Given the description of an element on the screen output the (x, y) to click on. 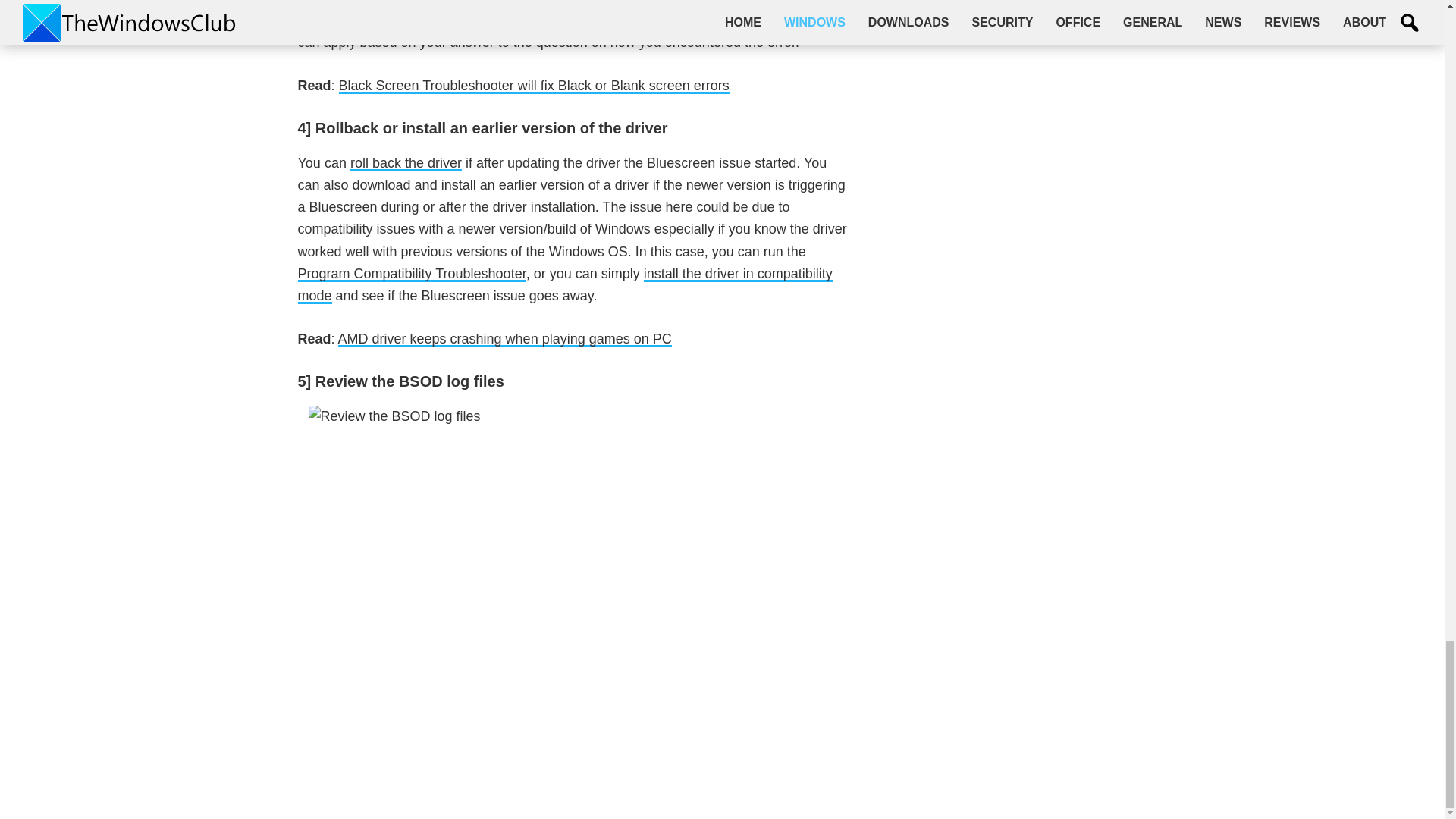
Program Compatibility Troubleshooter (411, 273)
install the driver in compatibility mode (564, 284)
AMD driver keeps crashing when playing games on PC (504, 339)
roll back the driver (405, 163)
